Given the description of an element on the screen output the (x, y) to click on. 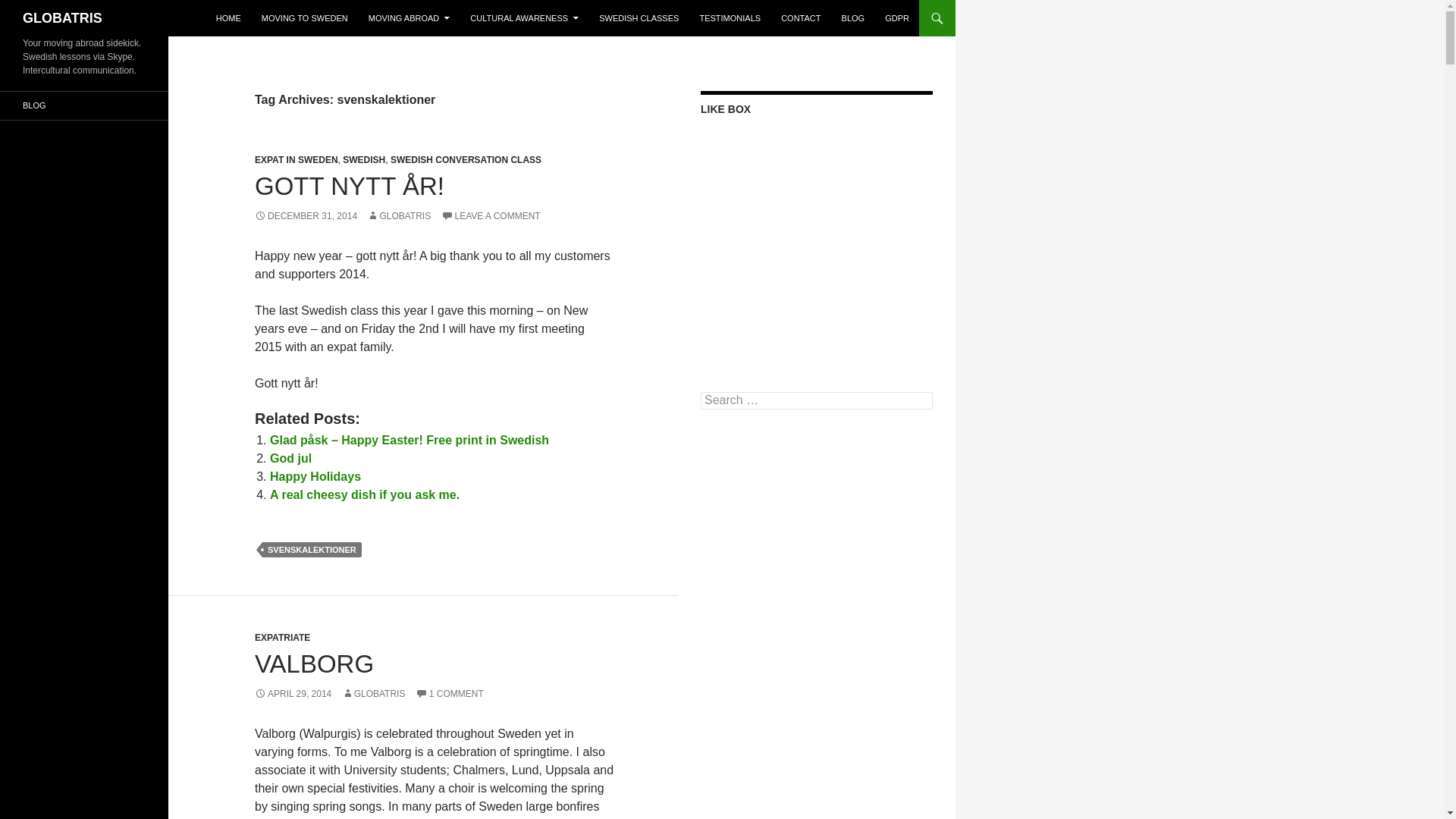
Happy Holidays (315, 476)
EXPATRIATE (282, 637)
CULTURAL AWARENESS (524, 18)
A real cheesy dish if you ask me. (364, 494)
TESTIMONIALS (730, 18)
GLOBATRIS (62, 18)
HOME (228, 18)
A real cheesy dish if you ask me. (364, 494)
Happy Holidays (315, 476)
GLOBATRIS (398, 215)
SWEDISH CONVERSATION CLASS (465, 159)
MOVING ABROAD (409, 18)
SVENSKALEKTIONER (311, 549)
GLOBATRIS (374, 693)
SWEDISH (363, 159)
